Given the description of an element on the screen output the (x, y) to click on. 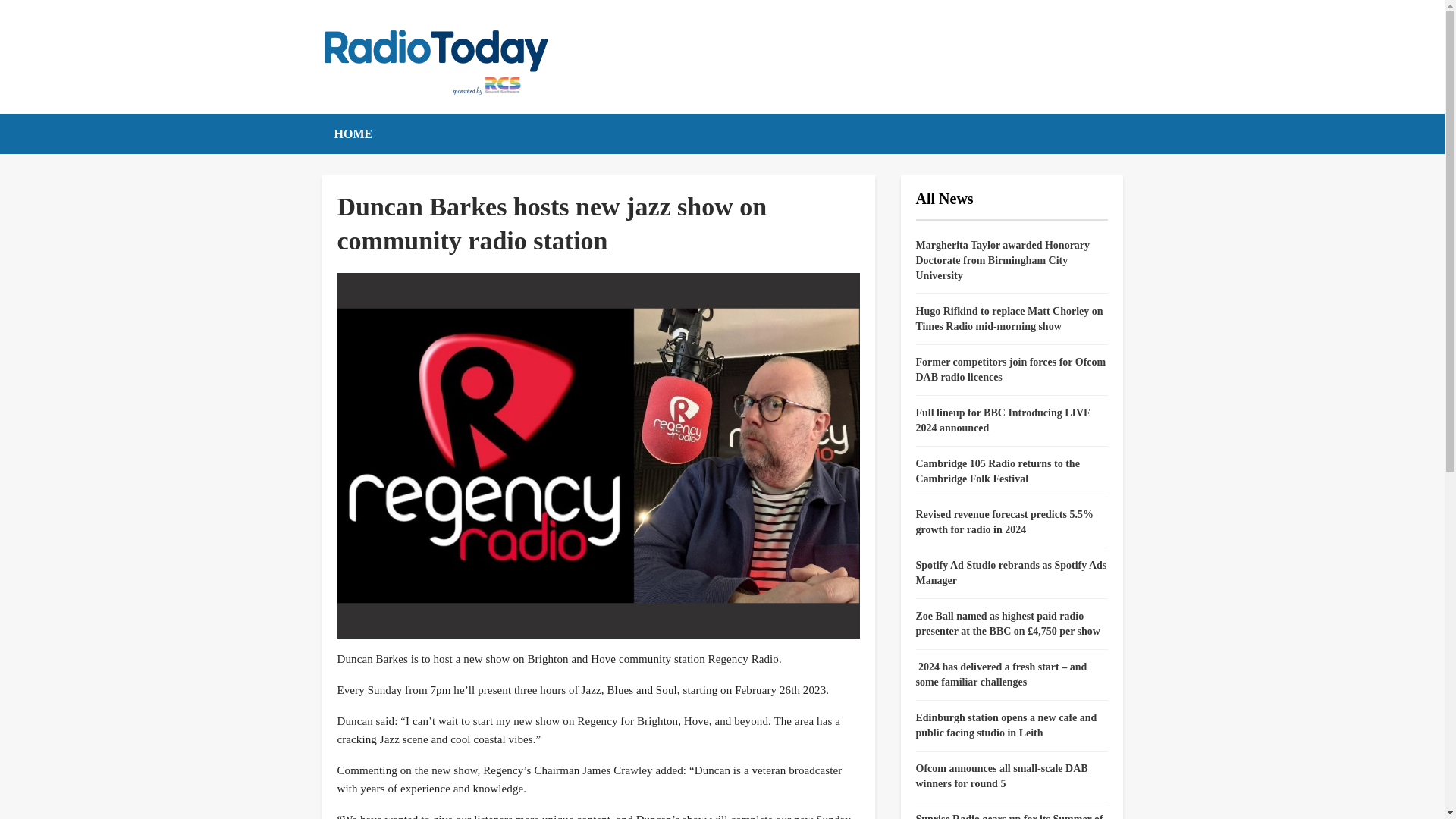
Sunrise Radio gears up for its Summer of Melas (1009, 816)
Full lineup for BBC Introducing LIVE 2024 announced (1002, 420)
Spotify Ad Studio rebrands as Spotify Ads Manager (1010, 572)
Former competitors join forces for Ofcom DAB radio licences (1010, 369)
Ofcom announces all small-scale DAB winners for round 5 (1001, 775)
Cambridge 105 Radio returns to the Cambridge Folk Festival (997, 470)
HOME (352, 133)
